Given the description of an element on the screen output the (x, y) to click on. 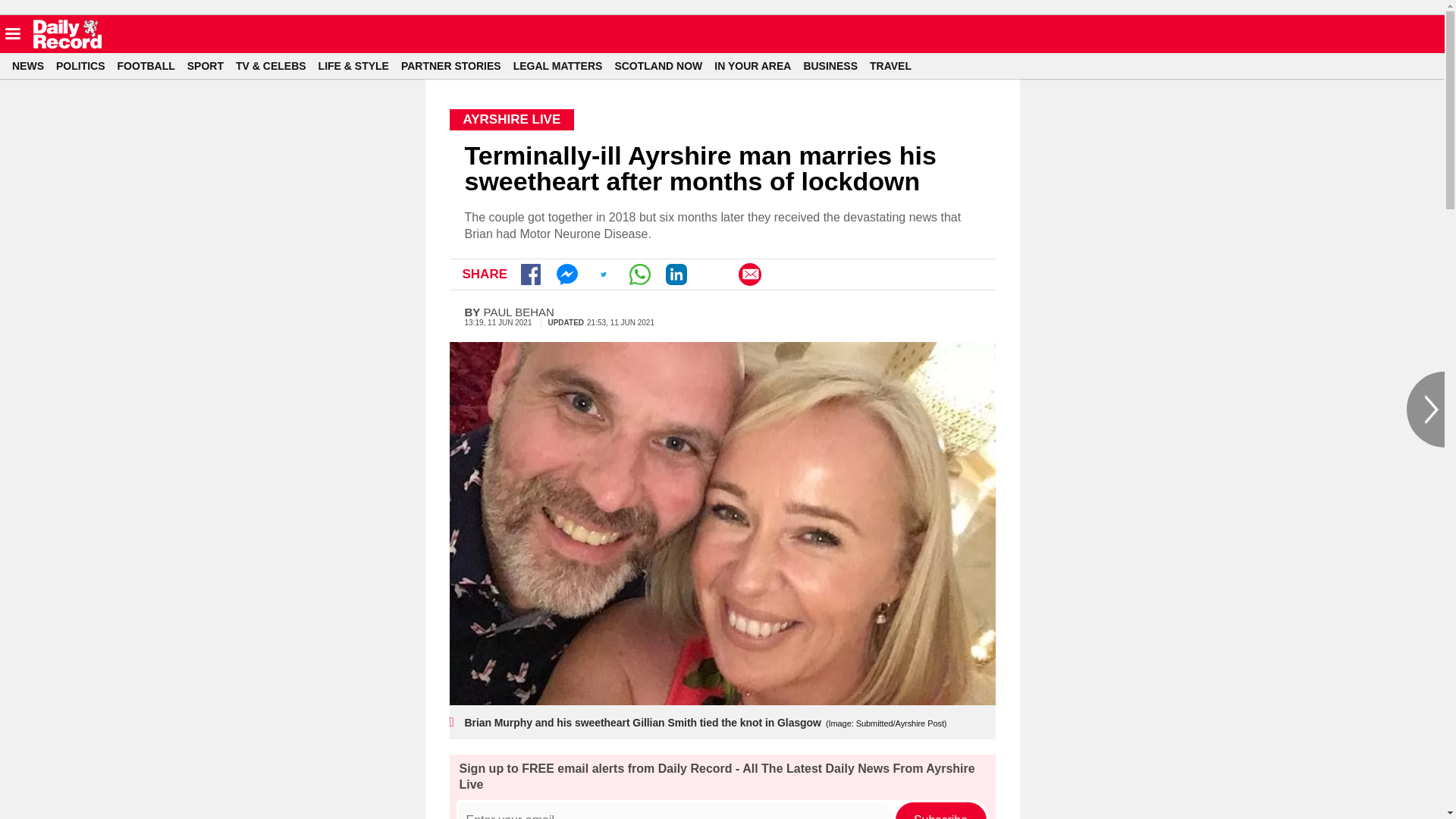
Subscribe (940, 810)
PARTNER STORIES (457, 65)
LEGAL MATTERS (563, 65)
BUSINESS (836, 65)
SCOTLAND NOW (664, 65)
IN YOUR AREA (758, 65)
Subscribe (940, 810)
FOOTBALL (152, 65)
AYRSHIRE LIVE (510, 119)
SPORT (211, 65)
POLITICS (86, 65)
NEWS (33, 65)
TRAVEL (896, 65)
